Given the description of an element on the screen output the (x, y) to click on. 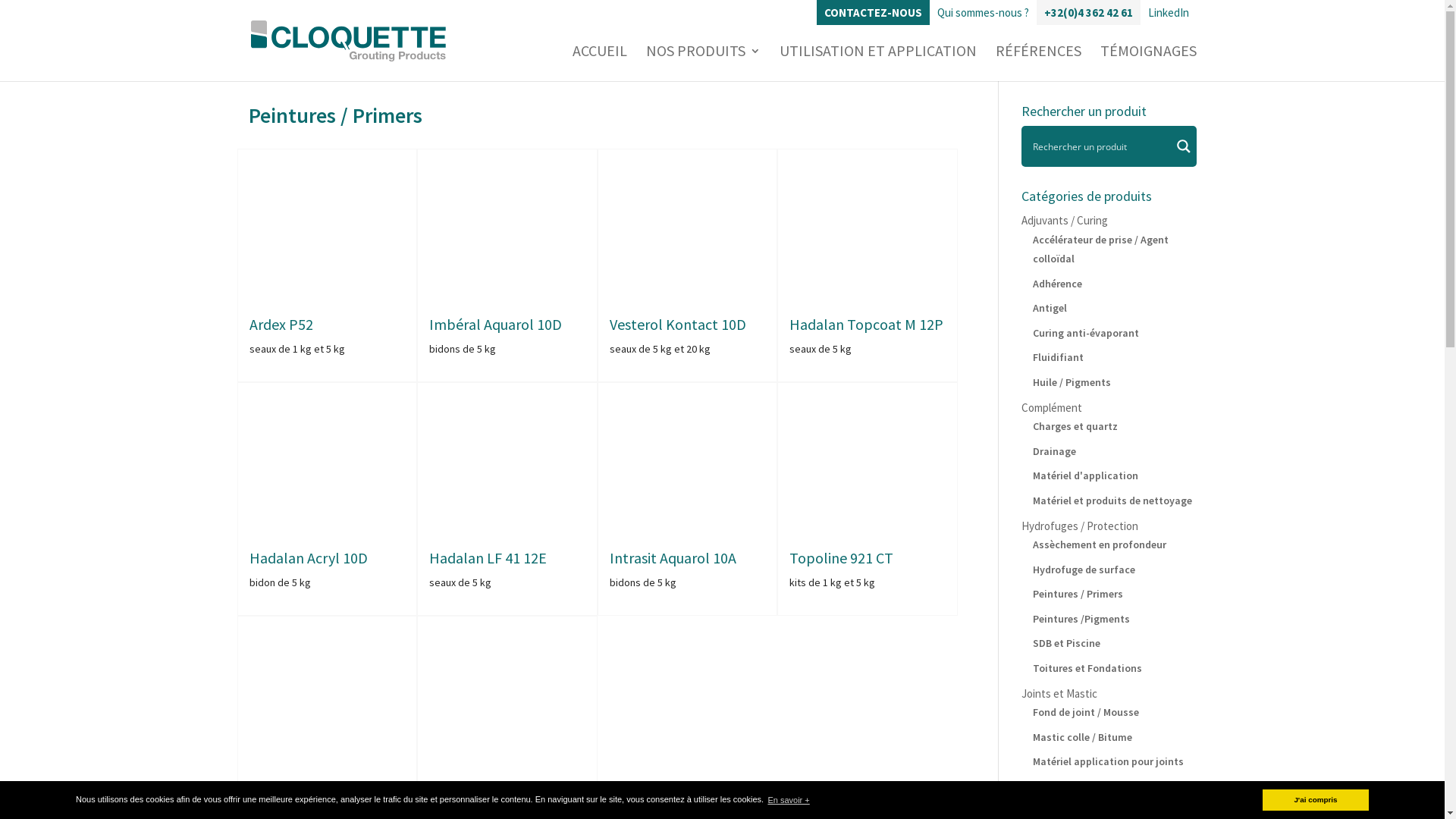
Charges et quartz Element type: text (1074, 426)
Peintures / Primers Element type: text (1077, 593)
+32(0)4 362 42 61 Element type: text (1087, 12)
Topoline 910 PH Element type: text (301, 790)
Drainage Element type: text (1054, 451)
LinkedIn Element type: text (1168, 12)
Mastic colle / Bitume Element type: text (1082, 736)
Qui sommes-nous ? Element type: text (982, 12)
Joints et Mastic Element type: text (1059, 692)
SDB et Piscine Element type: text (1066, 642)
Adjuvants / Curing Element type: text (1064, 220)
Topoline 921 CT Element type: text (841, 557)
Toitures et Fondations Element type: text (1087, 667)
Hadalan LF 41 12E Element type: text (487, 557)
Vesterol Kontact 10D Element type: text (677, 323)
Hadalan Acryl 10D Element type: text (307, 557)
Hydrofuges / Protection Element type: text (1079, 525)
Hydrofuge de surface Element type: text (1083, 569)
Antigel Element type: text (1049, 307)
Ardex P52 Element type: text (280, 323)
CONTACTEZ-NOUS Element type: text (871, 12)
Hadalan Topcoat M 12P Element type: text (866, 323)
Fluidifiant Element type: text (1057, 357)
NOS PRODUITS Element type: text (703, 63)
Intrasit Aquarol 10A Element type: text (672, 557)
Scellement/rejointoiement Element type: text (1096, 810)
UTILISATION ET APPLICATION Element type: text (877, 63)
Fond de joint / Mousse Element type: text (1085, 711)
Topoline 910 P Element type: text (476, 790)
Huile / Pigments Element type: text (1071, 381)
J'ai compris Element type: text (1315, 799)
Peintures /Pigments Element type: text (1080, 617)
En savoir + Element type: text (788, 799)
ACCUEIL Element type: text (598, 63)
